Given the description of an element on the screen output the (x, y) to click on. 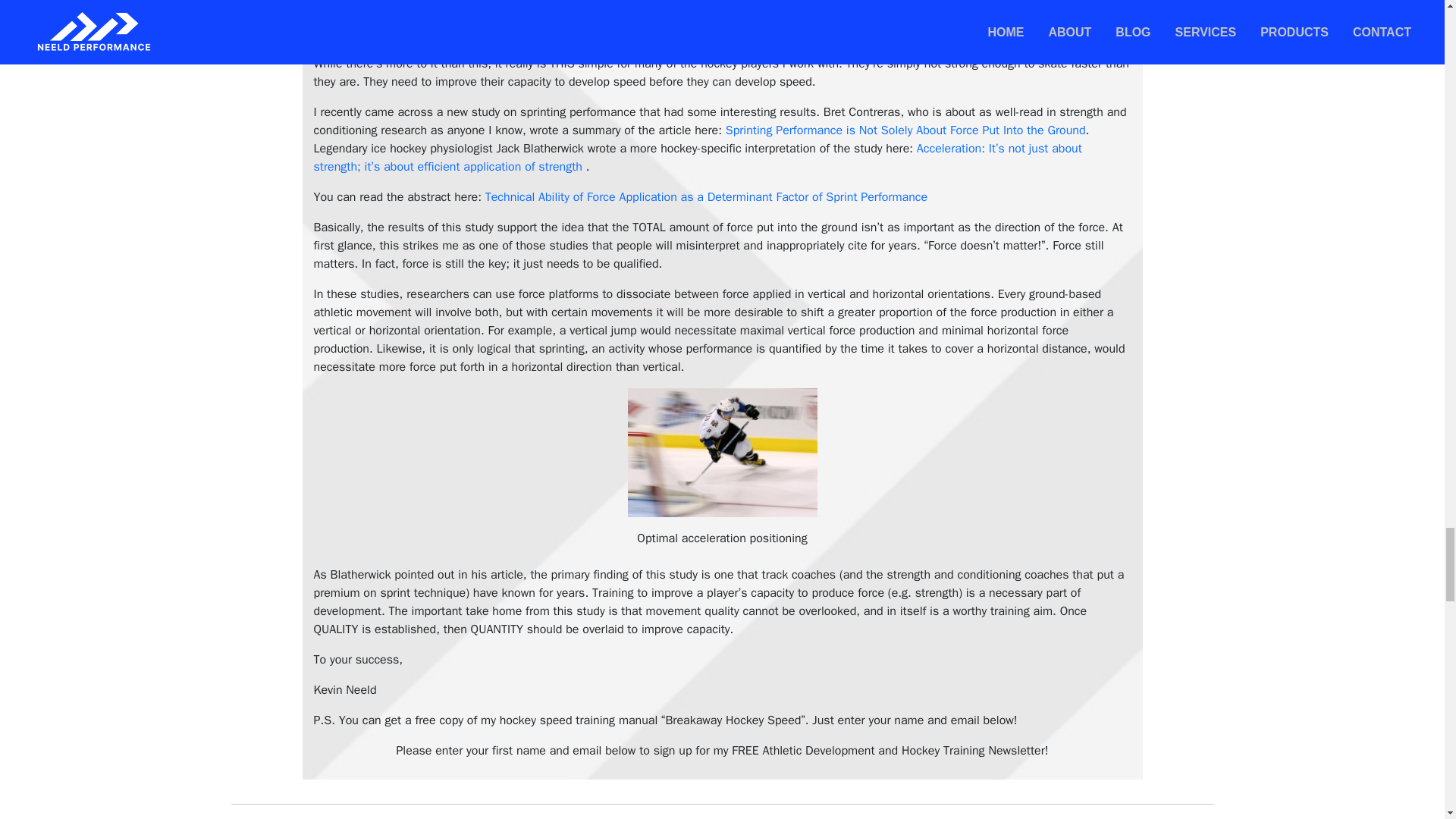
Hockey Speed-Ovechkin (721, 452)
